Given the description of an element on the screen output the (x, y) to click on. 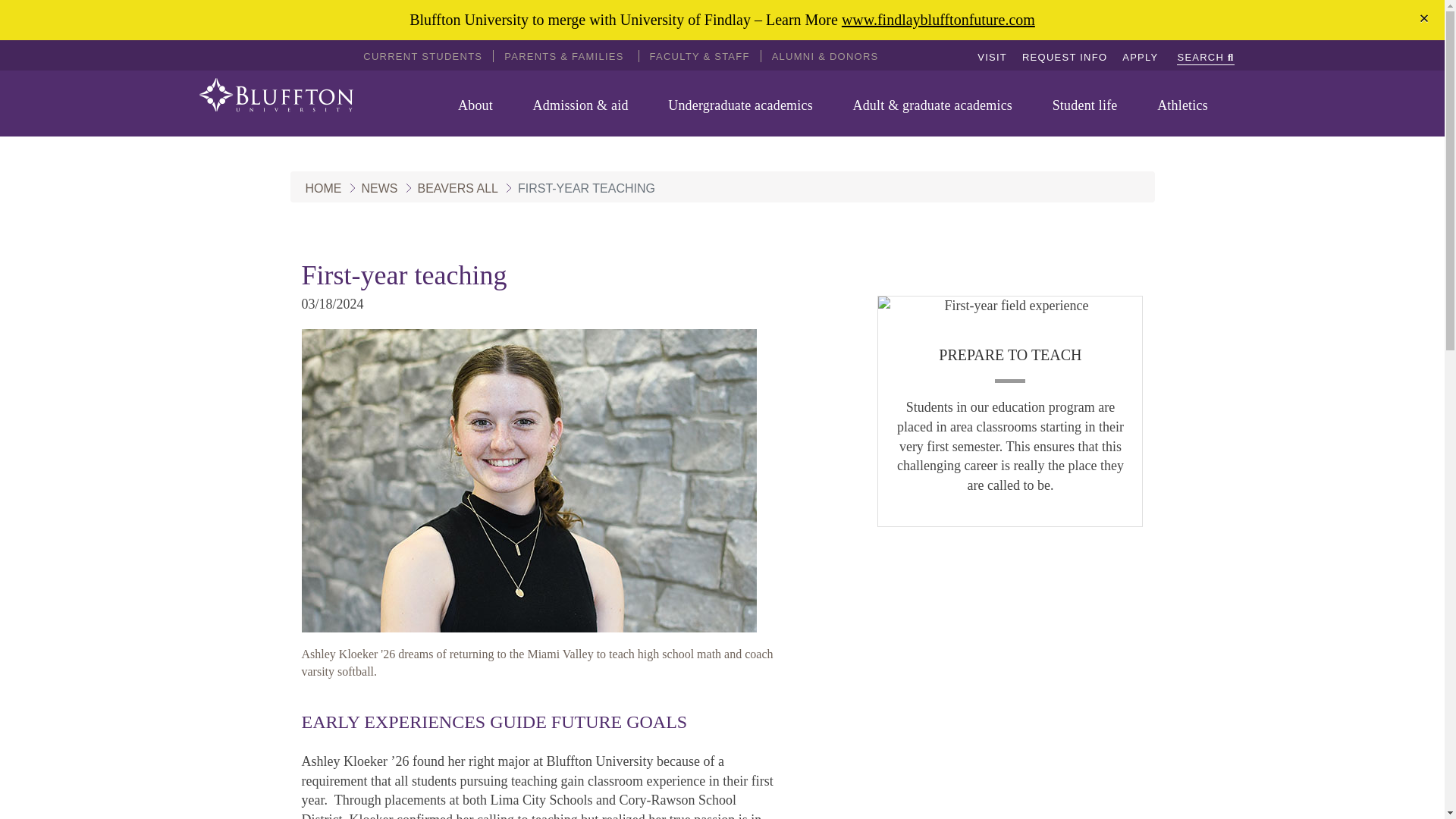
Student life (1090, 105)
Undergraduate academics (745, 105)
About (481, 105)
www.findlayblufftonfuture.com (938, 19)
